Given the description of an element on the screen output the (x, y) to click on. 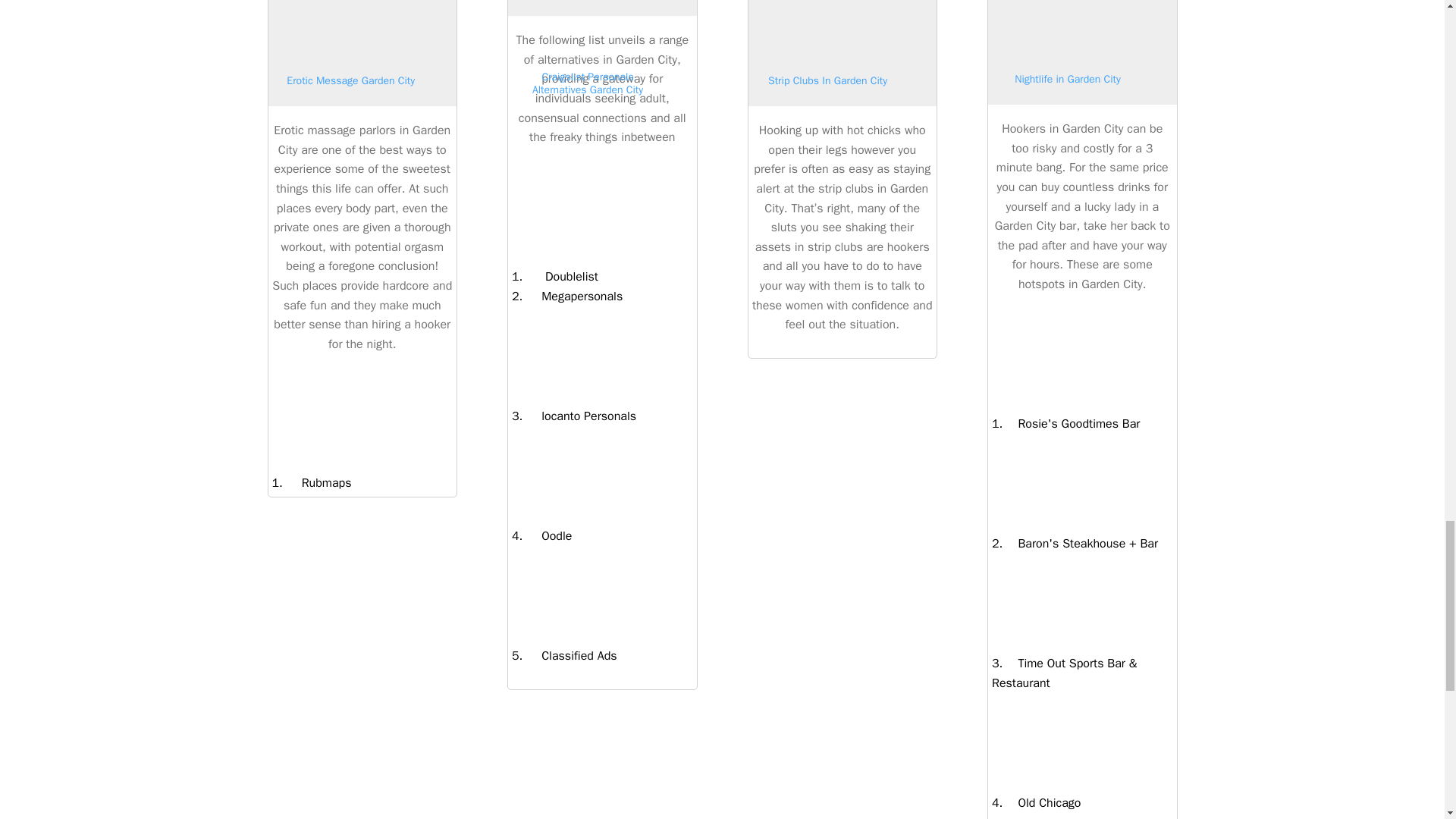
Doublelist (560, 276)
Rosie's Goodtimes Bar (1071, 422)
locanto Personals (579, 416)
Classified Ads (568, 655)
Megapersonals (572, 296)
Oodle (547, 535)
Rubmaps (317, 482)
Old Chicago (1041, 801)
